Given the description of an element on the screen output the (x, y) to click on. 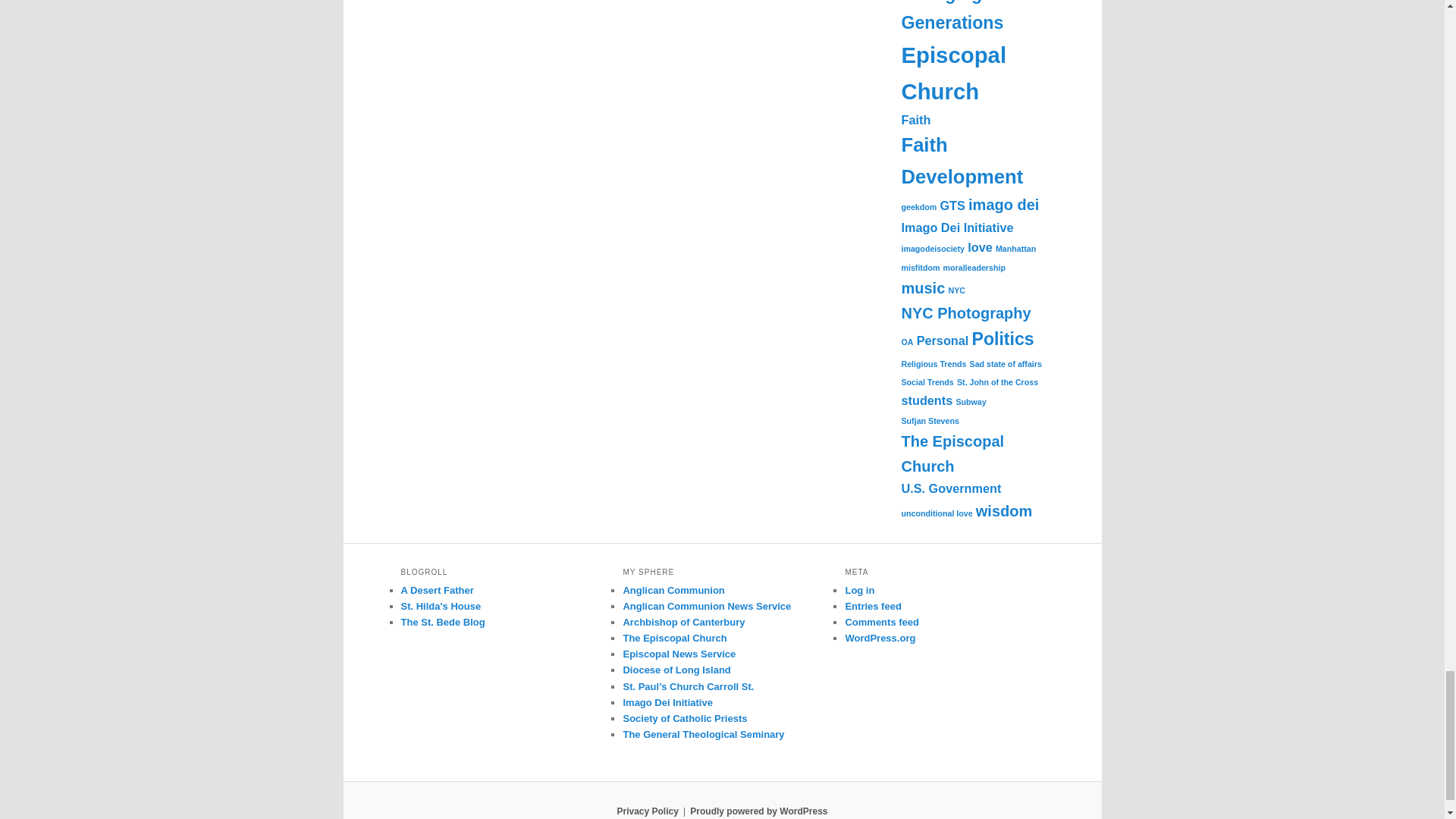
The blog of Fr. Robert Hendrickson (436, 590)
Blog of Dr. Derek Olsen (442, 622)
Semantic Personal Publishing Platform (758, 810)
